Given the description of an element on the screen output the (x, y) to click on. 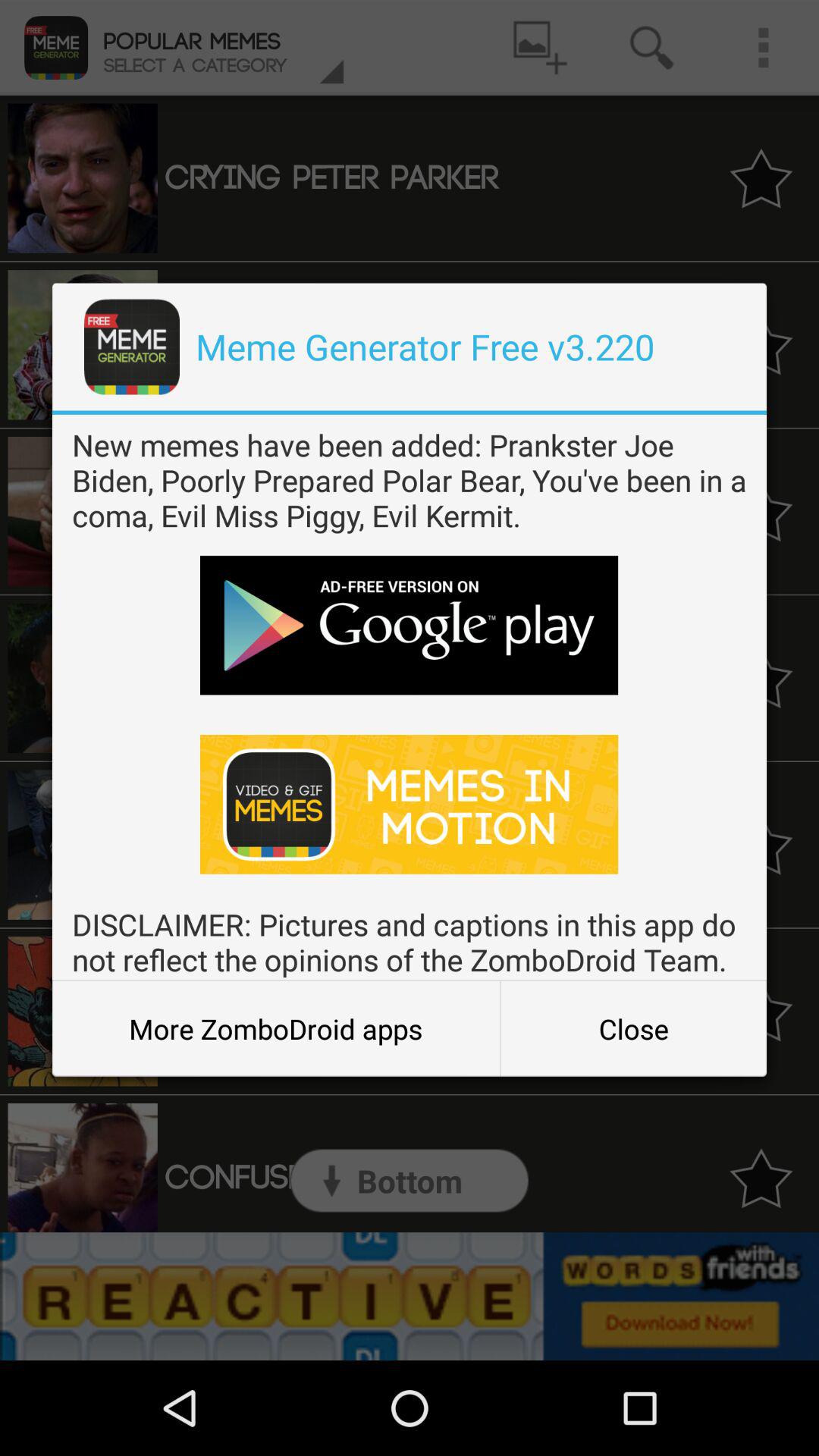
download app (409, 804)
